Given the description of an element on the screen output the (x, y) to click on. 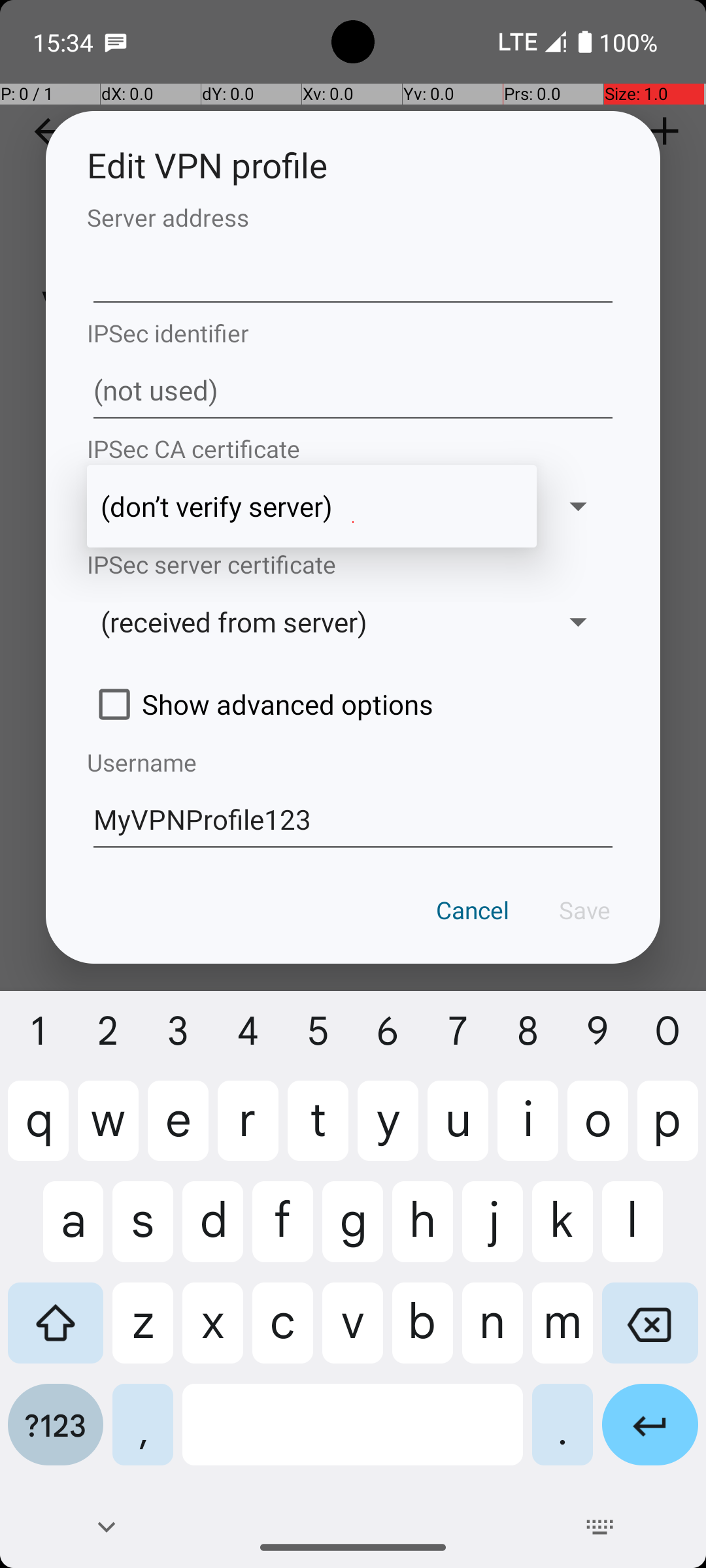
(don’t verify server) Element type: android.widget.CheckedTextView (311, 506)
